Given the description of an element on the screen output the (x, y) to click on. 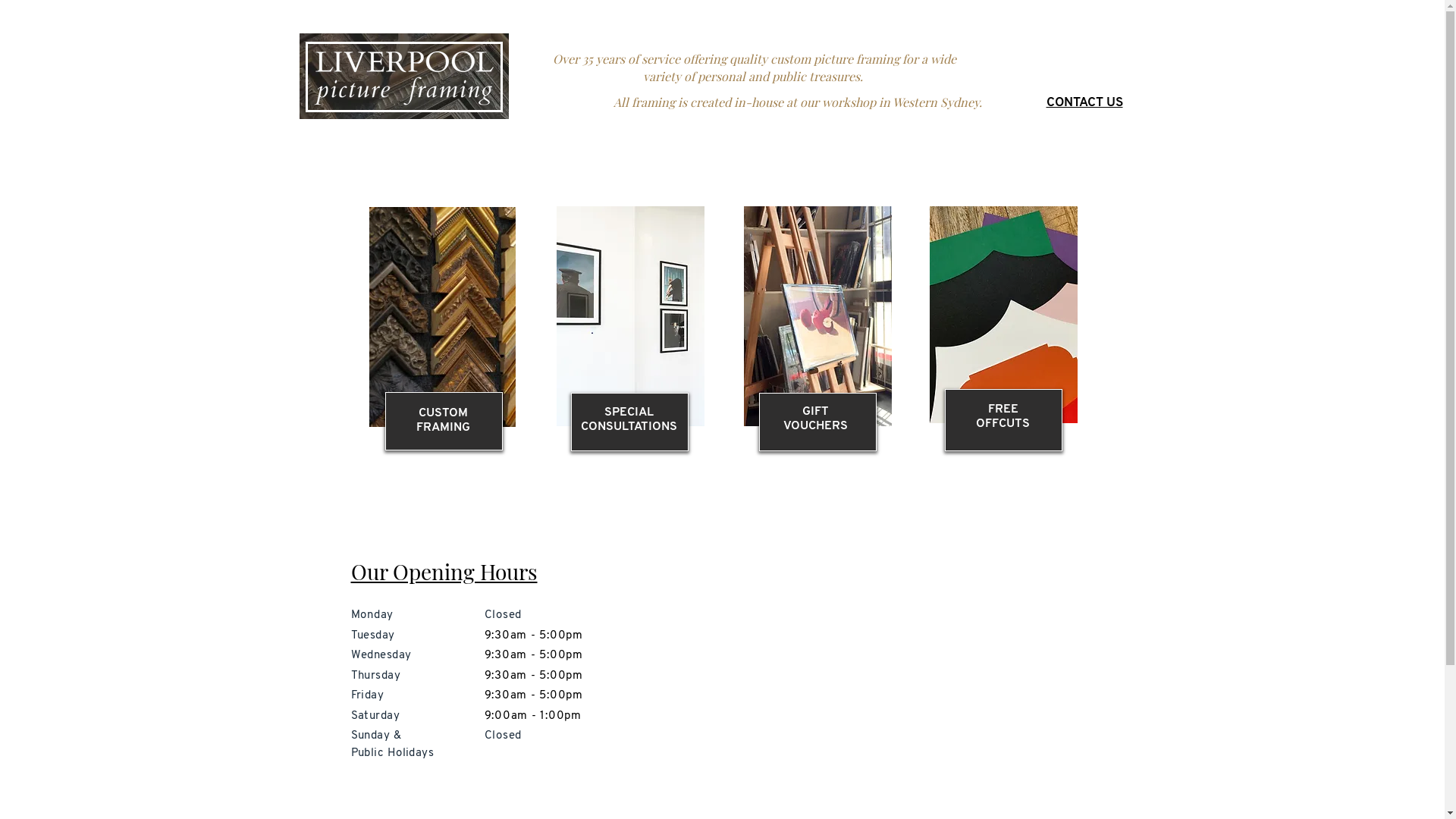
GIFT
VOUCHERS Element type: text (815, 418)
FREE
OFFCUTS Element type: text (1002, 416)
SPECIAL
CONSULTATIONS Element type: text (627, 422)
CONTACT US Element type: text (1084, 102)
CUSTOM
FRAMING Element type: text (443, 420)
Google Maps Element type: hover (907, 666)
SPECIAL
CONSULTATIONS Element type: text (628, 419)
